Given the description of an element on the screen output the (x, y) to click on. 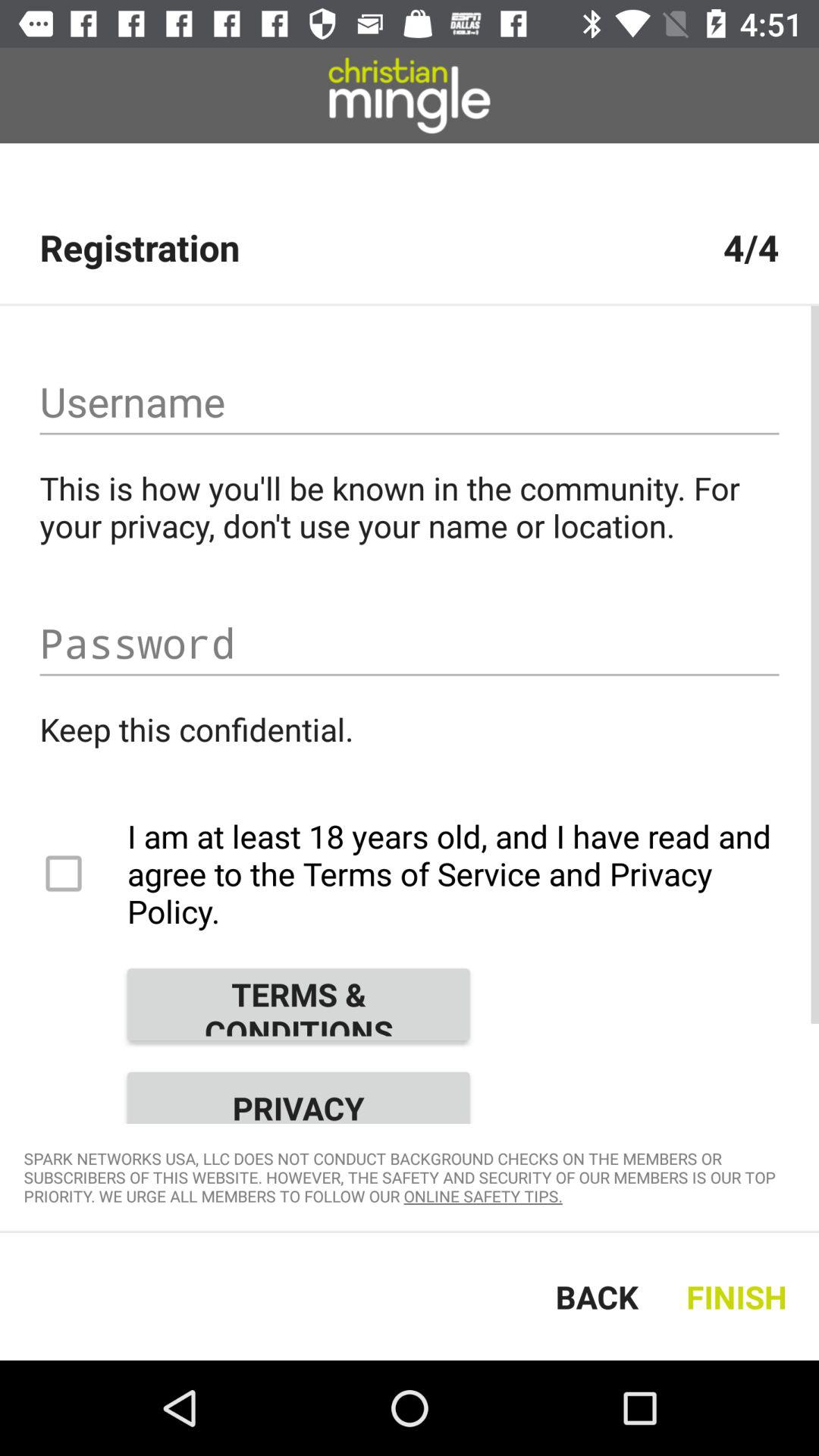
password (409, 642)
